Given the description of an element on the screen output the (x, y) to click on. 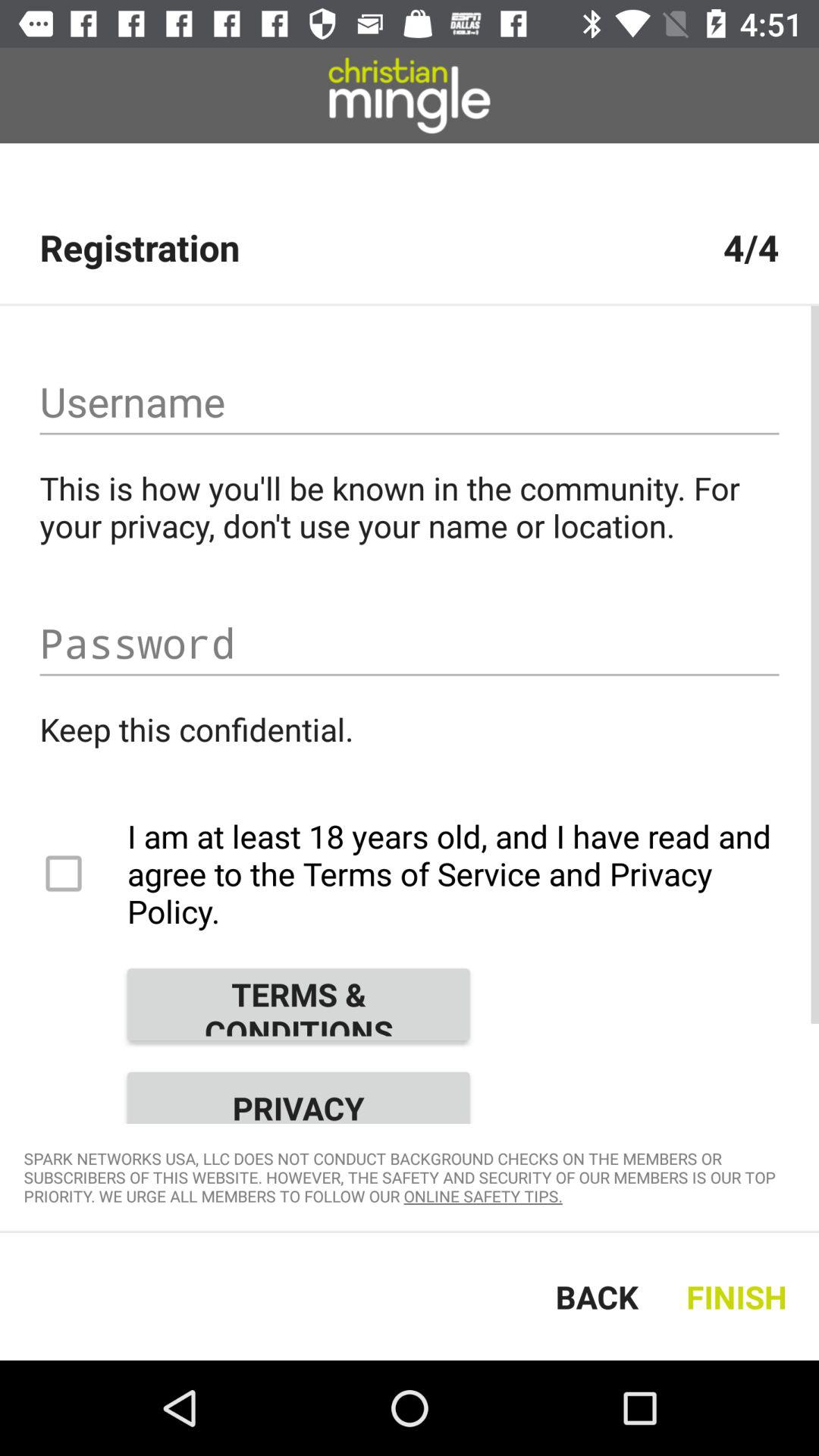
password (409, 642)
